Given the description of an element on the screen output the (x, y) to click on. 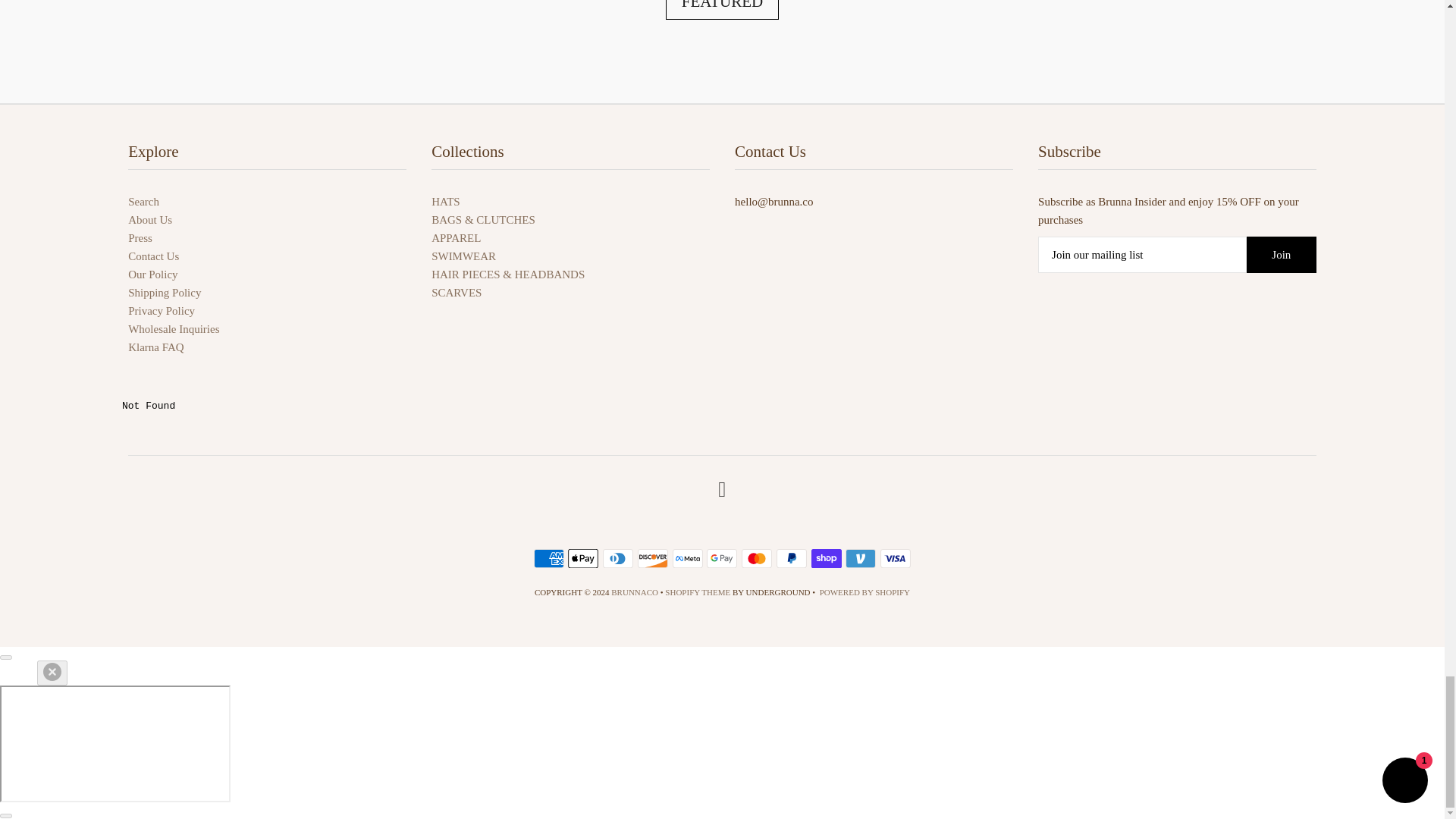
About Us (149, 219)
Venmo (860, 558)
Press (140, 237)
Privacy Policy (161, 310)
Join (1281, 254)
American Express (549, 558)
Discover (652, 558)
Visa (895, 558)
Wholesale Inquiries (173, 328)
Klarna FAQ (155, 346)
Shipping Policy (164, 292)
HATS (445, 201)
Diners Club (617, 558)
Search (143, 201)
PayPal (791, 558)
